Given the description of an element on the screen output the (x, y) to click on. 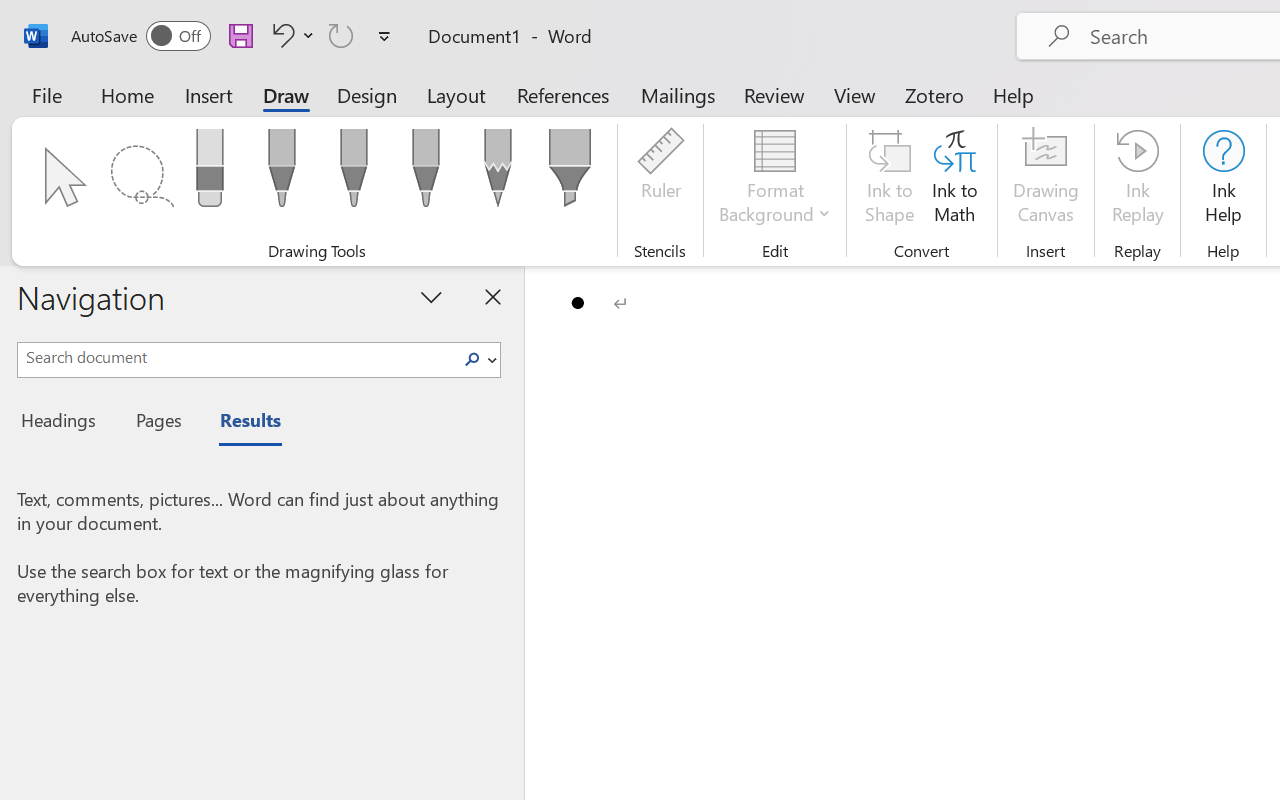
Ink to Shape (889, 179)
